Given the description of an element on the screen output the (x, y) to click on. 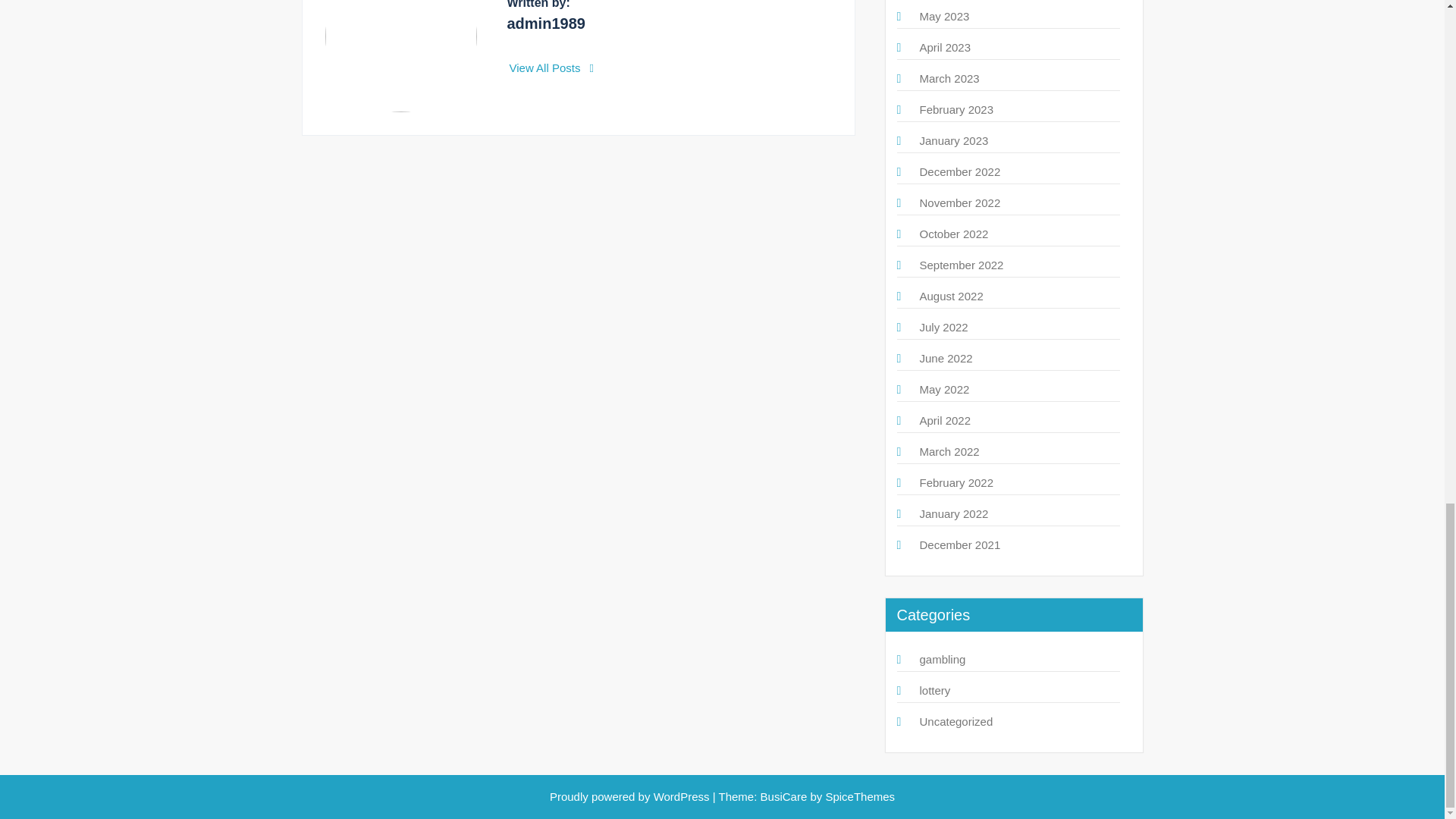
December 2022 (959, 171)
View All Posts (551, 67)
January 2023 (953, 140)
May 2023 (943, 15)
March 2023 (948, 78)
April 2023 (944, 47)
February 2023 (955, 109)
November 2022 (959, 202)
